Given the description of an element on the screen output the (x, y) to click on. 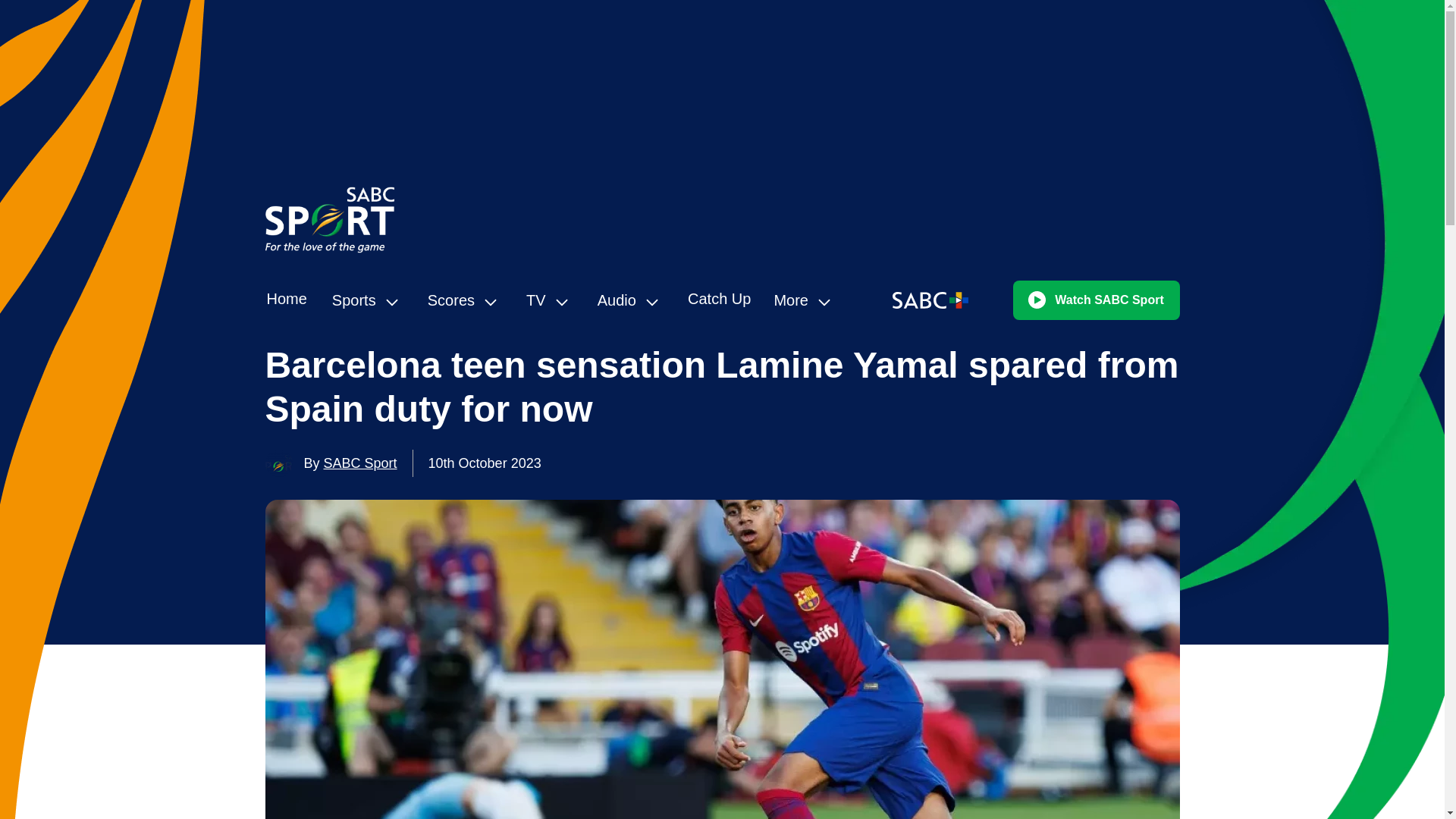
Audio (631, 299)
More (804, 299)
Watch SABC Sport (1096, 300)
TV (550, 299)
Catch Up (719, 298)
SABC Sport (360, 462)
Home (286, 298)
Scores (465, 299)
Sports (368, 299)
